Given the description of an element on the screen output the (x, y) to click on. 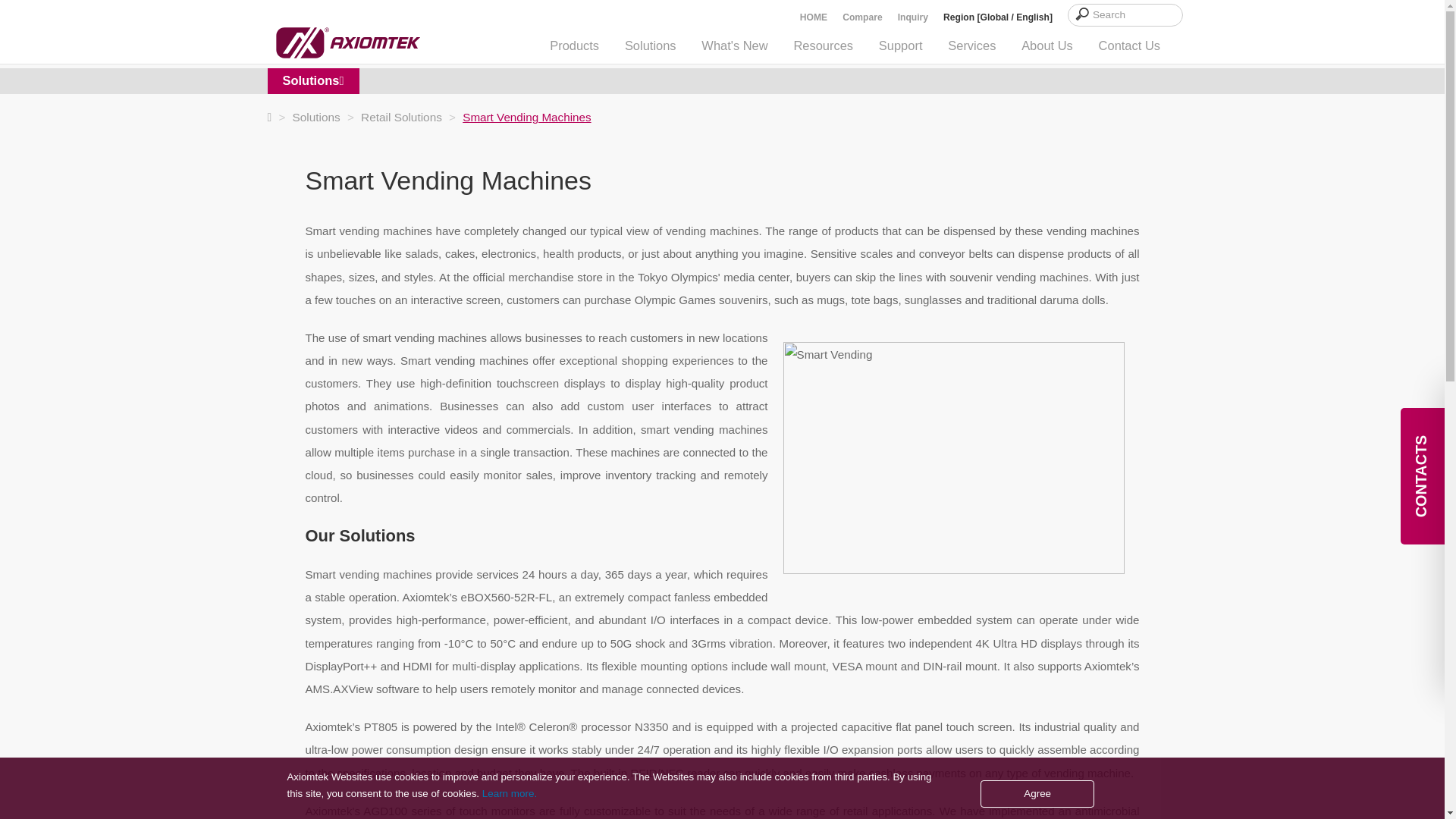
Inquiry (913, 17)
Products (574, 45)
Compare (862, 17)
HOME (813, 17)
